Given the description of an element on the screen output the (x, y) to click on. 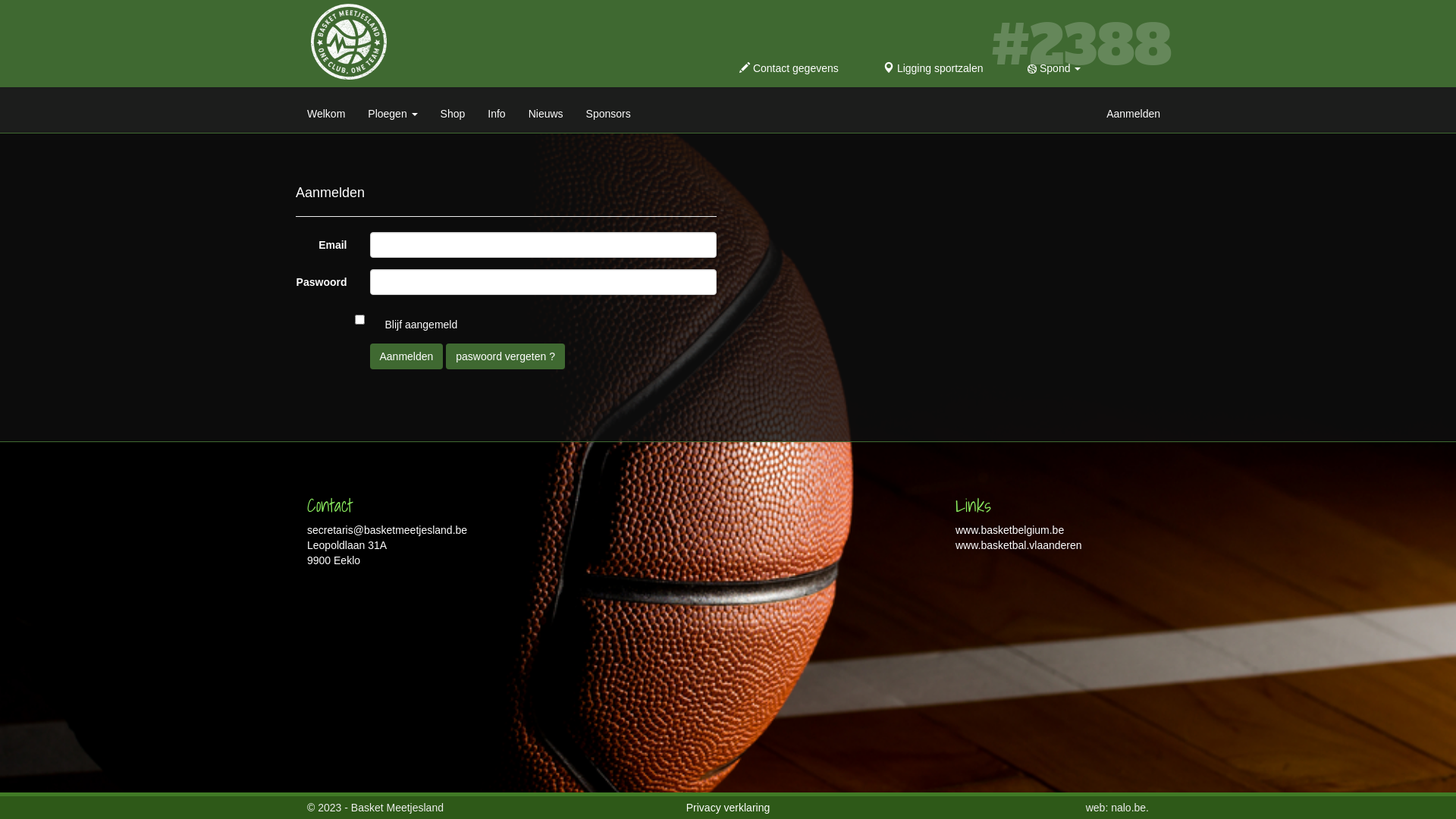
Shop Element type: text (452, 109)
www.basketbal.vlaanderen Element type: text (1018, 545)
Aanmelden Element type: text (406, 356)
nalo.be. Element type: text (1129, 807)
www.basketbelgium.be Element type: text (1009, 530)
Contact gegevens Element type: text (788, 68)
paswoord vergeten ? Element type: text (504, 356)
Welkom Element type: text (325, 109)
Ligging sportzalen Element type: text (933, 68)
Info Element type: text (496, 109)
Sponsors Element type: text (608, 109)
secretaris@basketmeetjesland.be Element type: text (387, 530)
Ploegen Element type: text (392, 109)
Nieuws Element type: text (545, 109)
Spond Element type: text (1053, 68)
Aanmelden Element type: text (1133, 109)
Privacy verklaring Element type: text (727, 807)
